Given the description of an element on the screen output the (x, y) to click on. 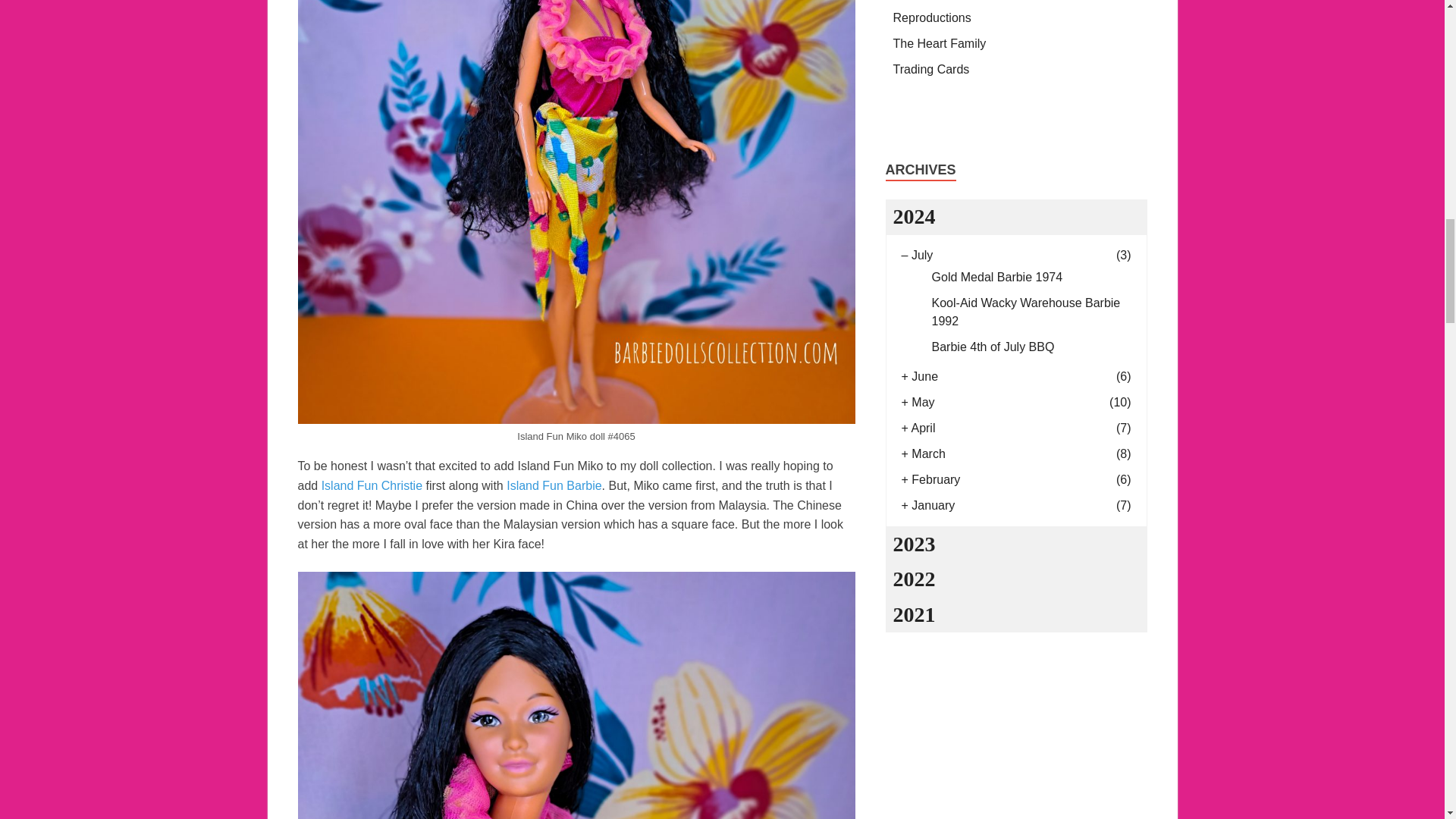
Island Fun Christie (371, 485)
Island Fun Barbie (553, 485)
